Given the description of an element on the screen output the (x, y) to click on. 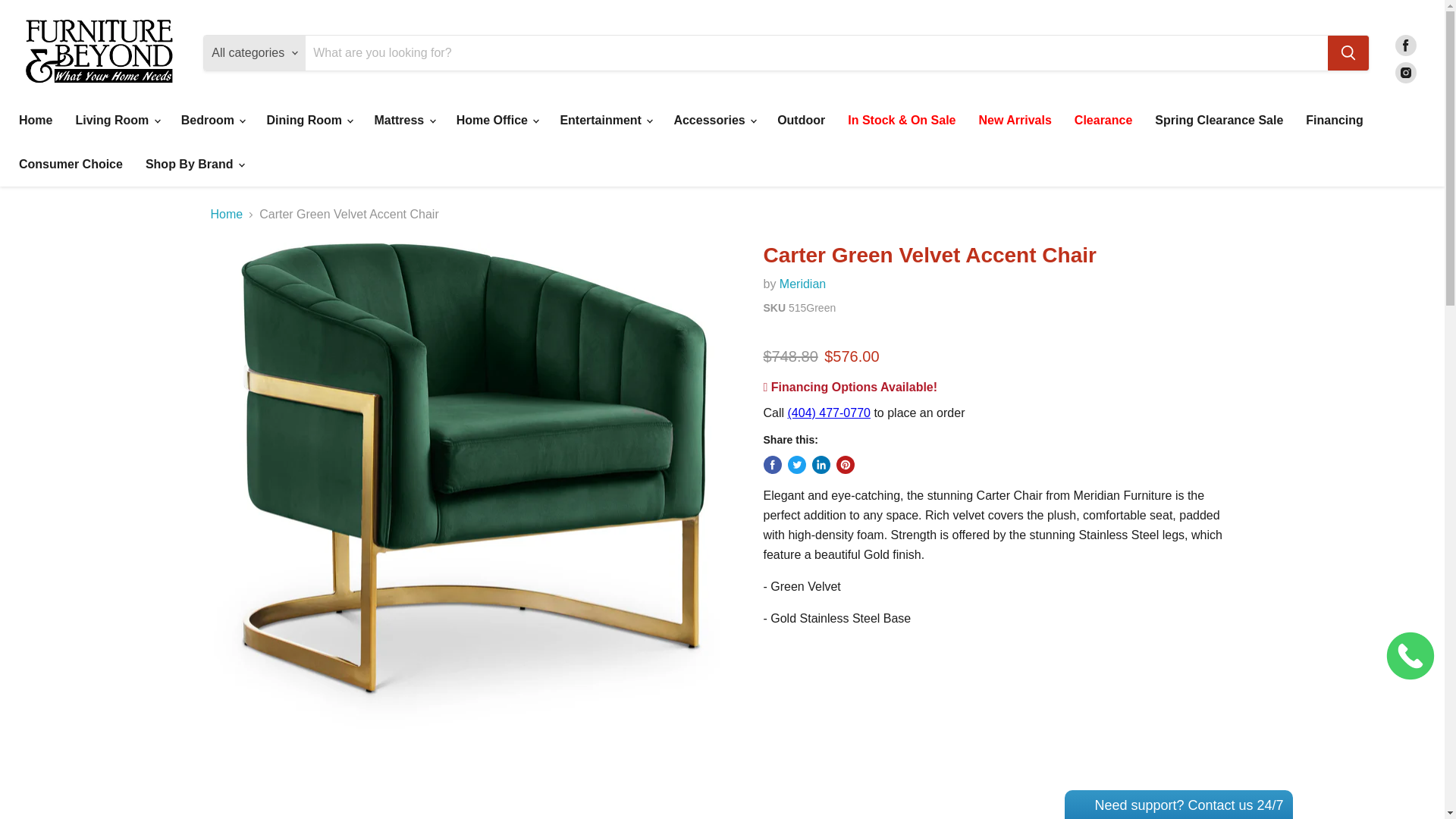
Instagram (1405, 72)
Find us on Facebook (1405, 45)
Home (35, 120)
Find us on Instagram (1405, 72)
Meridian (801, 283)
Facebook (1405, 45)
